Given the description of an element on the screen output the (x, y) to click on. 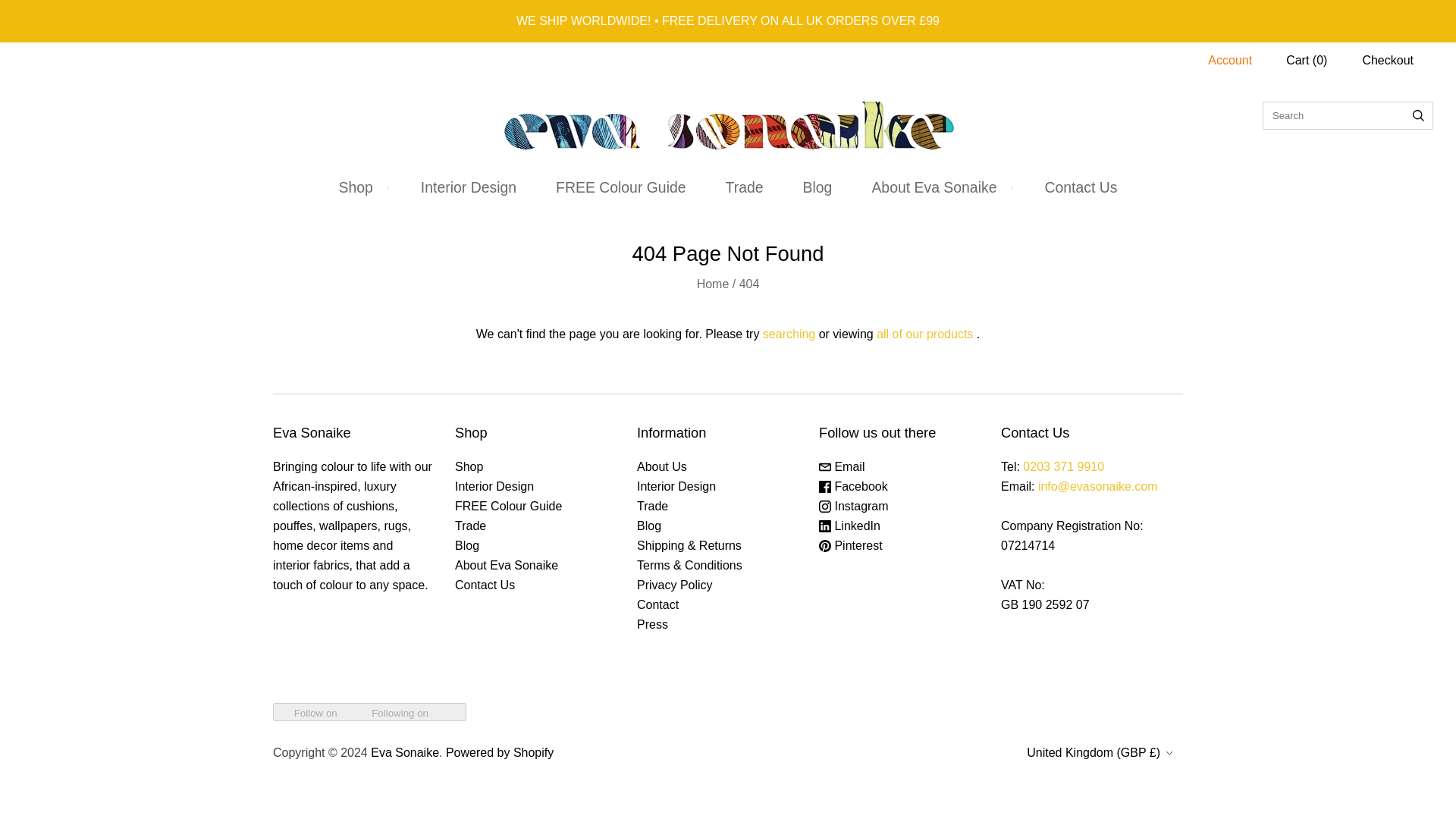
Pinterest (850, 545)
FREE Colour Guide (620, 187)
Account (1230, 60)
Instagram (853, 505)
Interior Design (468, 187)
LinkedIn (849, 525)
tel:0203 371 9910 (1063, 466)
Contact Us (1081, 187)
Checkout (1387, 60)
Email (841, 466)
